Given the description of an element on the screen output the (x, y) to click on. 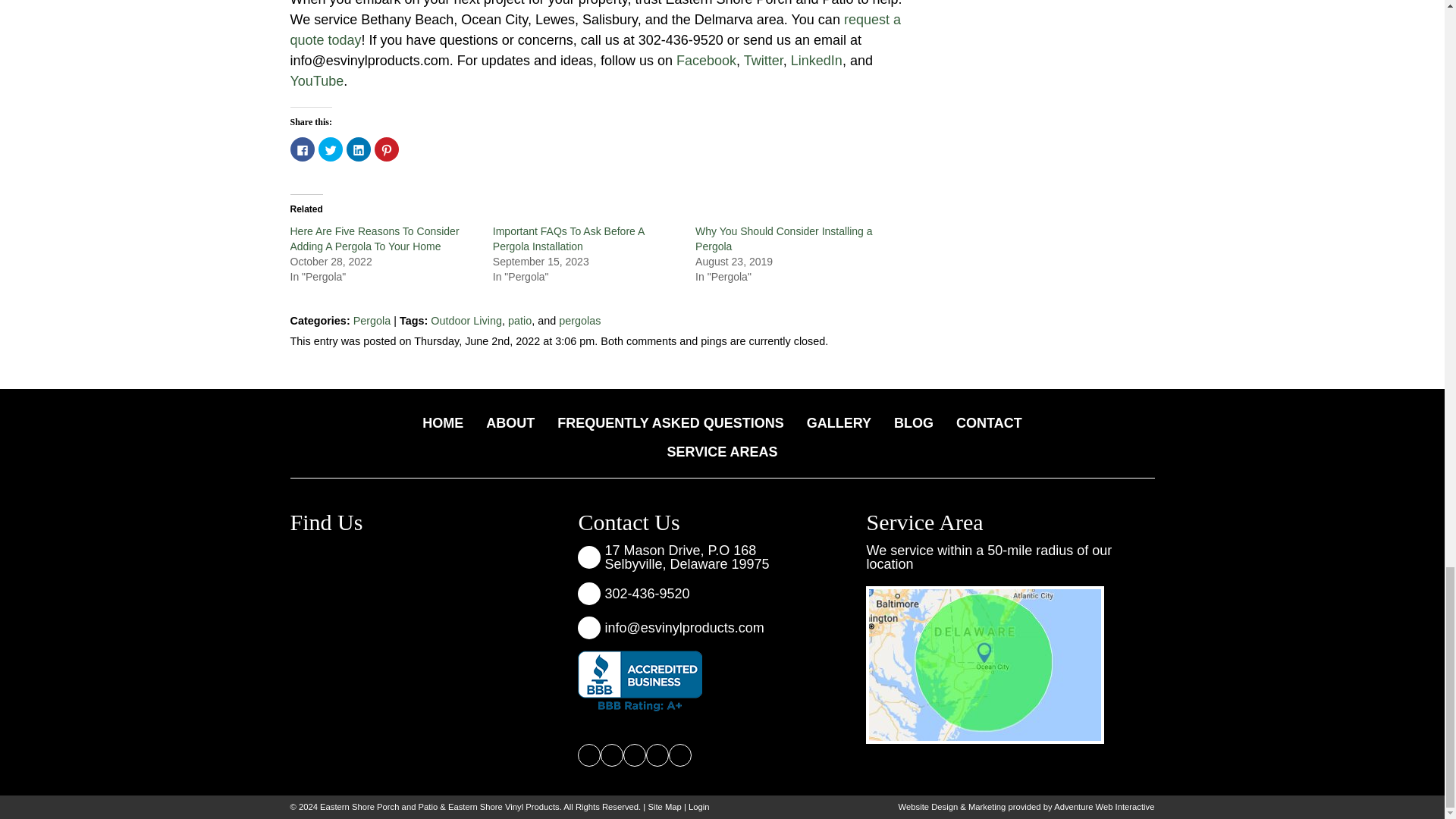
Click to share on LinkedIn (357, 149)
Click to share on Facebook (301, 149)
Click to share on Pinterest (386, 149)
Click to share on Twitter (330, 149)
